Given the description of an element on the screen output the (x, y) to click on. 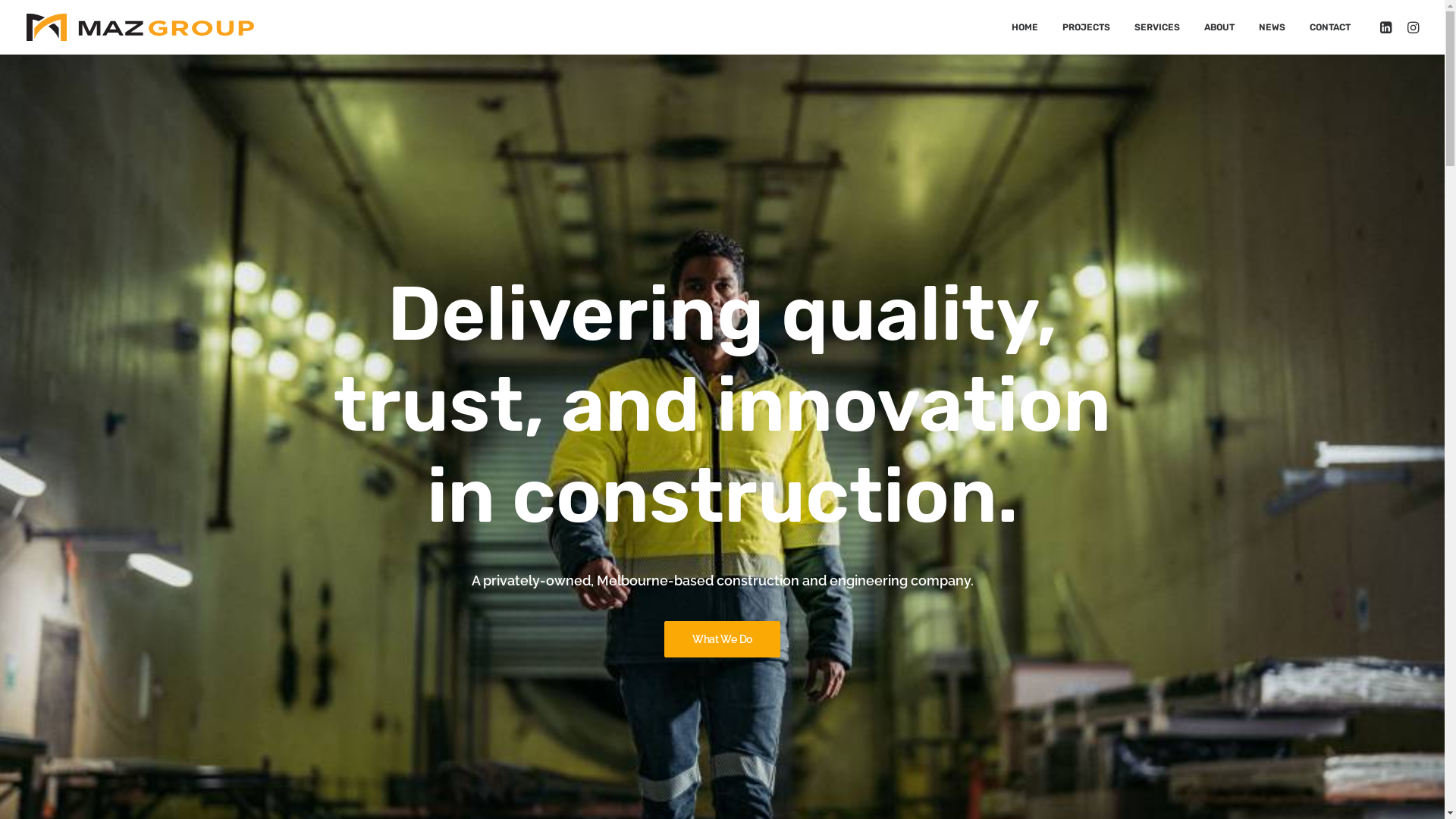
CONTACT Element type: text (1323, 27)
HOME Element type: text (1024, 27)
ABOUT Element type: text (1219, 27)
What We Do Element type: text (722, 639)
NEWS Element type: text (1271, 27)
PROJECTS Element type: text (1085, 27)
SERVICES Element type: text (1156, 27)
